Given the description of an element on the screen output the (x, y) to click on. 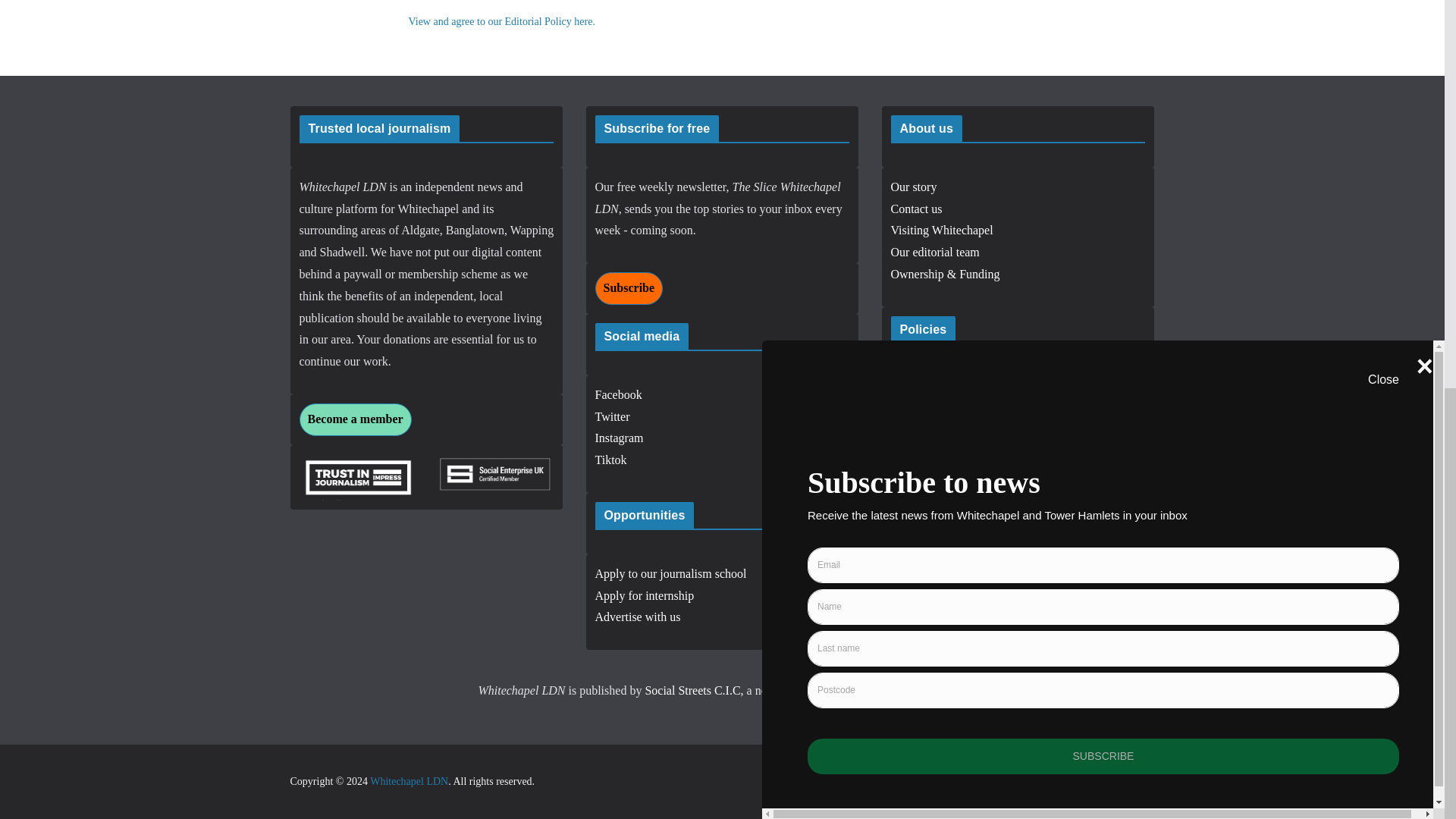
Whitechapel LDN (408, 781)
Facebook (618, 394)
Advertise with us (636, 616)
Apply to our journalism school (669, 573)
Instagram (618, 437)
Our story (912, 186)
Twitter (611, 416)
Become a member (354, 419)
Subscribe (628, 287)
Apply for internship (644, 594)
View and agree to our Editorial Policy here. (500, 21)
Contact us (915, 208)
Tiktok (610, 459)
